Given the description of an element on the screen output the (x, y) to click on. 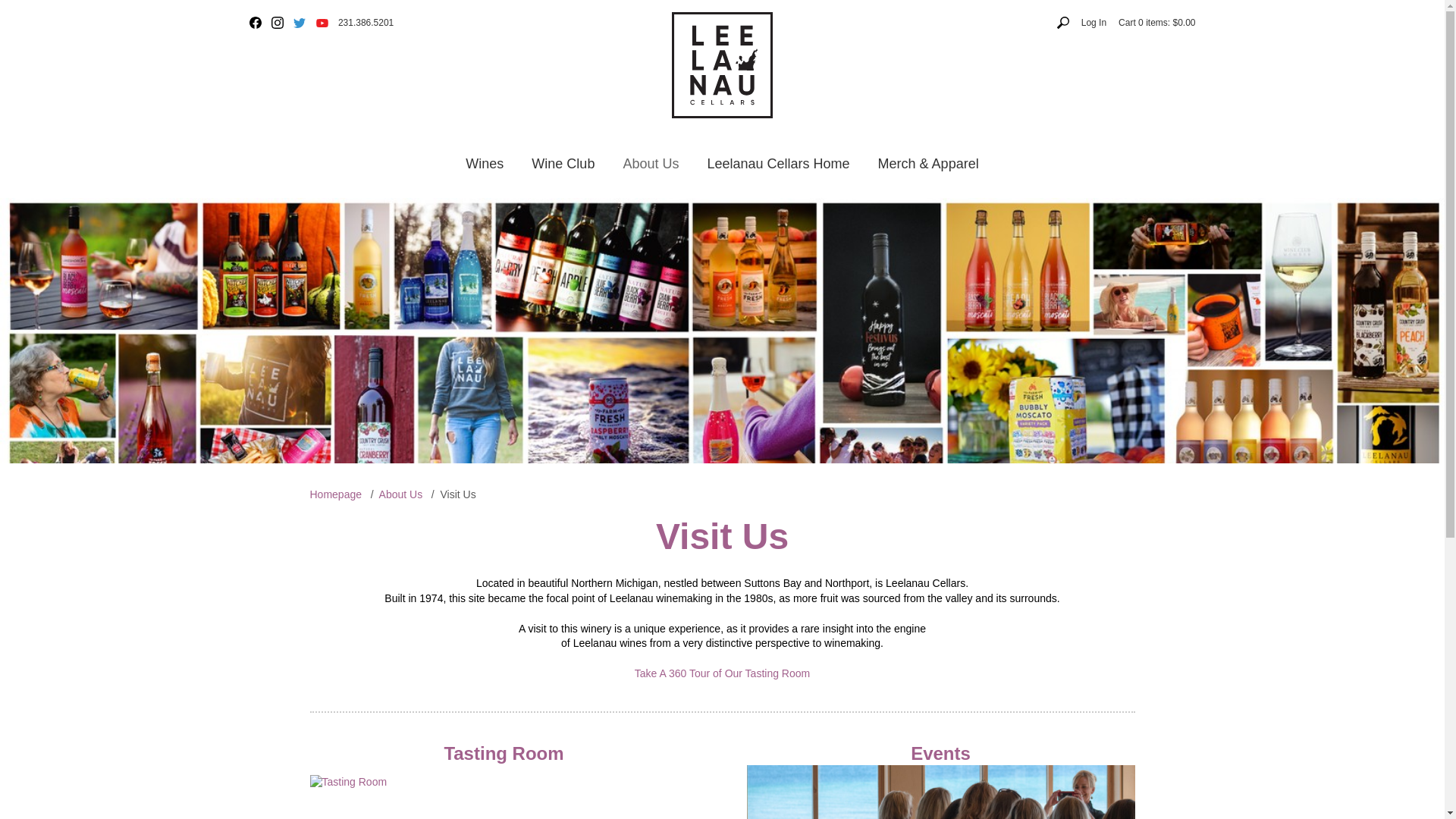
YouTube (322, 22)
Facebook (254, 22)
Wines (483, 163)
Twitter (299, 22)
Log In (1093, 22)
231.386.5201 (365, 22)
Instagram (276, 22)
